Given the description of an element on the screen output the (x, y) to click on. 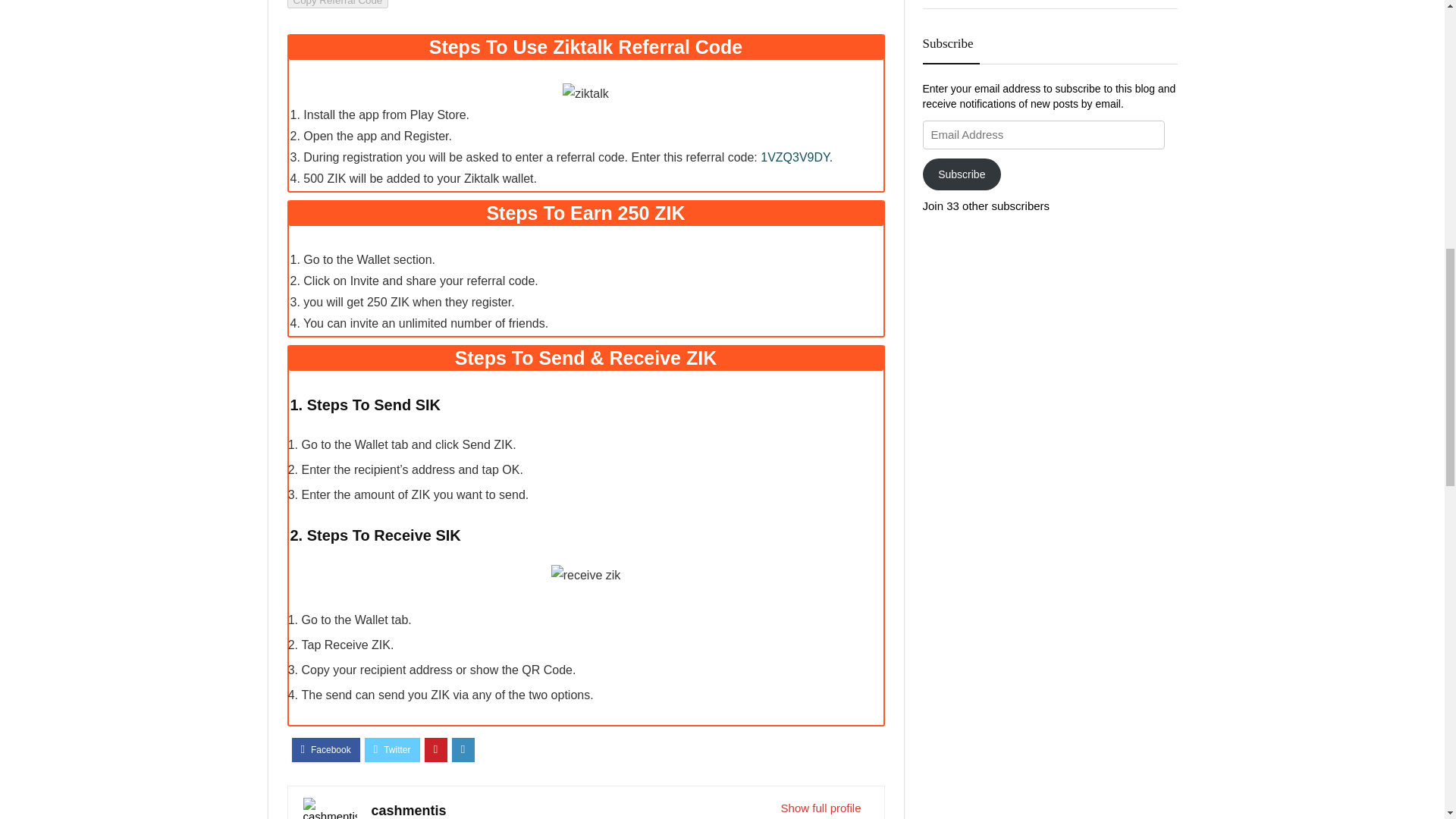
cashmentis (408, 785)
Show full profile (820, 783)
